Given the description of an element on the screen output the (x, y) to click on. 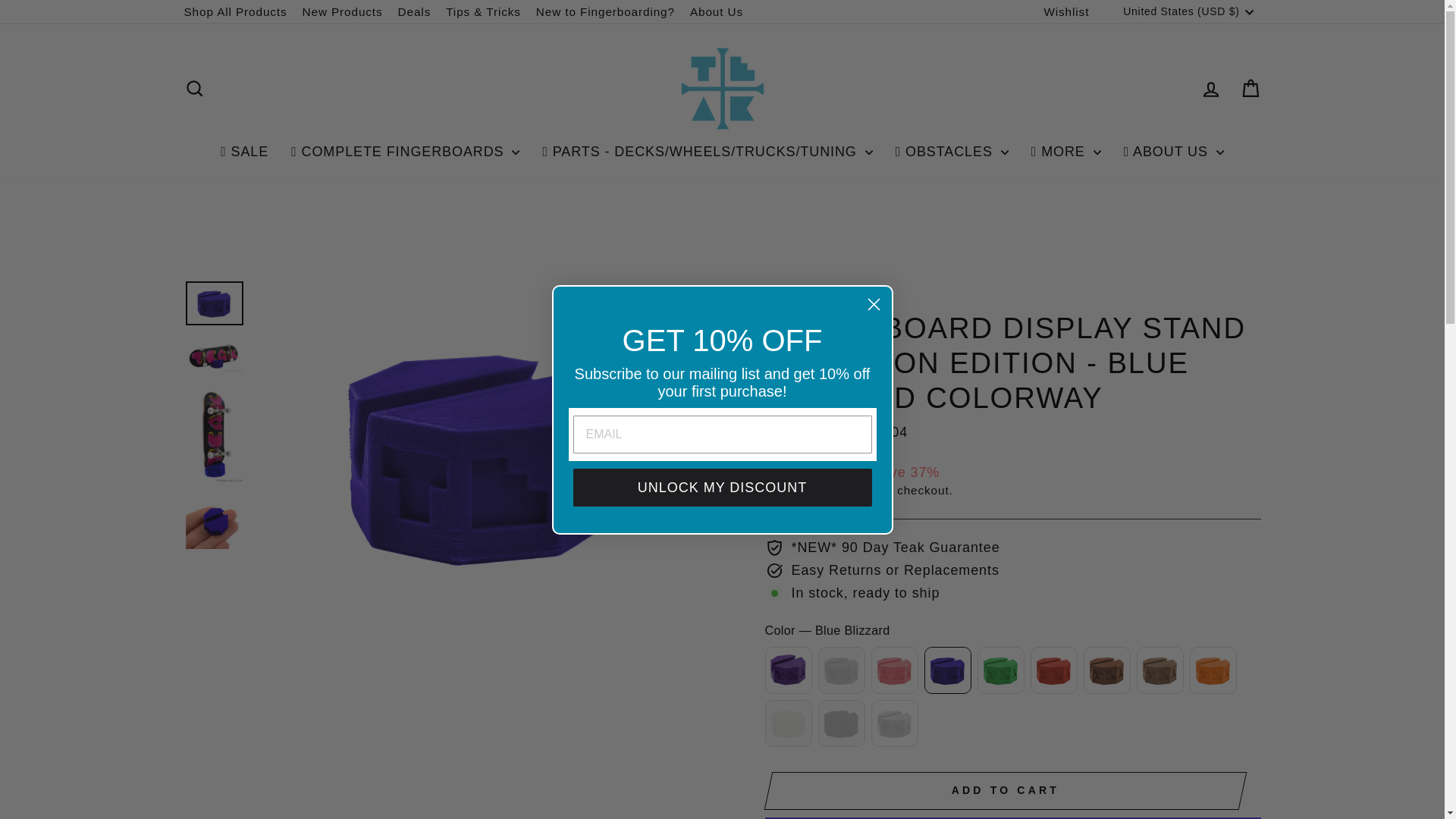
ICON-SEARCH (194, 88)
Back to the frontpage (780, 295)
ACCOUNT (1210, 88)
